Given the description of an element on the screen output the (x, y) to click on. 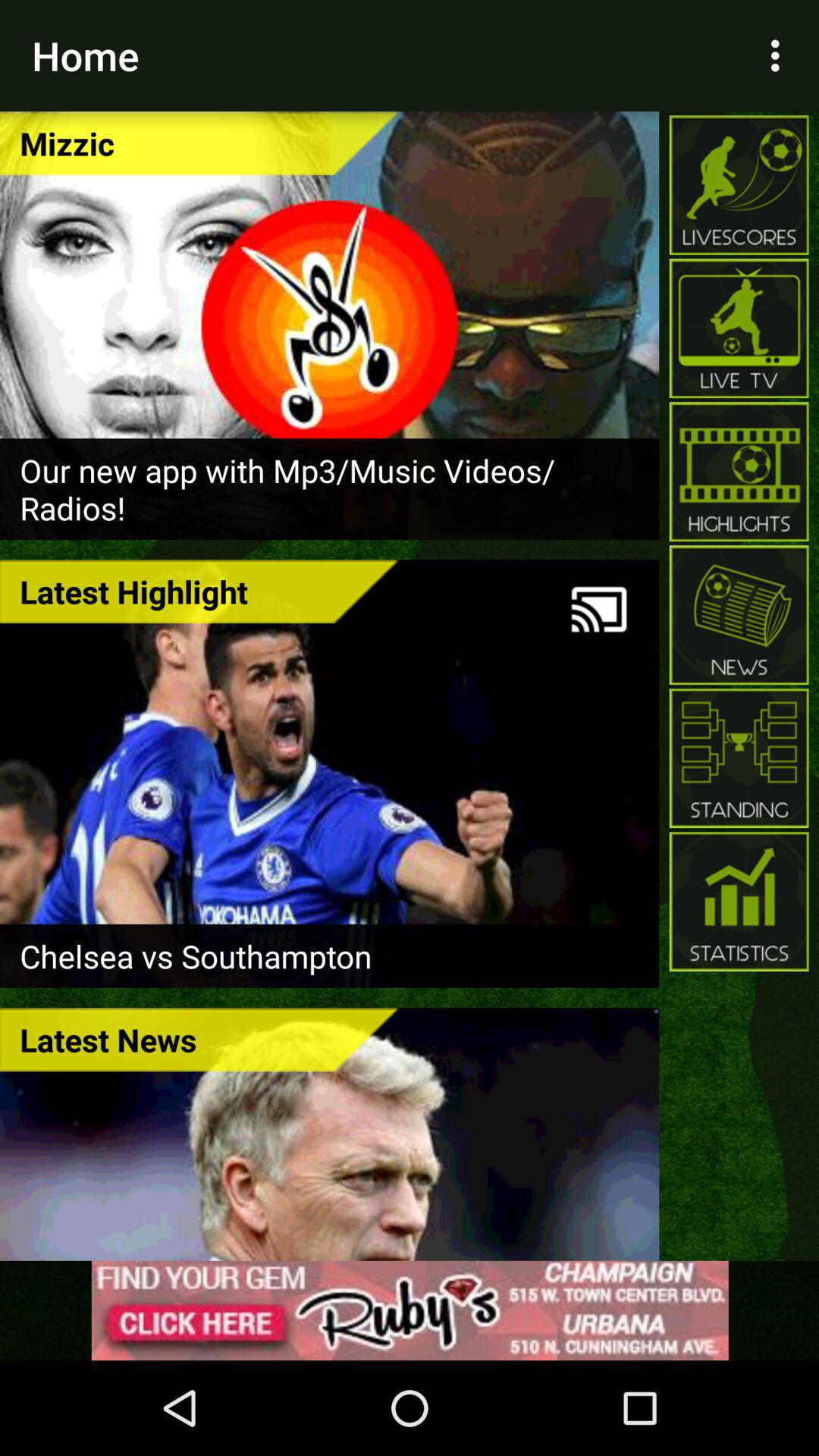
open item above chelsea vs southampton icon (599, 609)
